Given the description of an element on the screen output the (x, y) to click on. 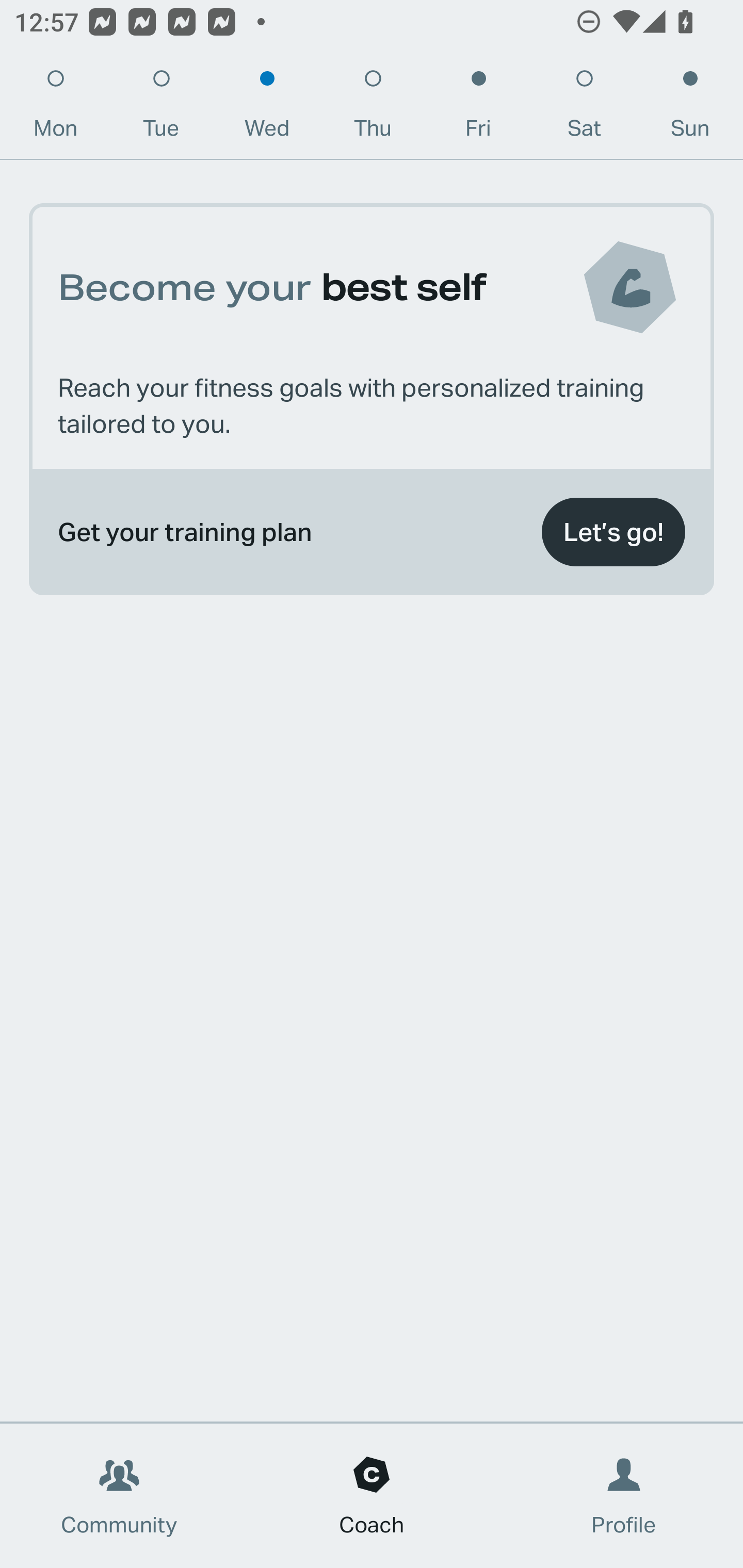
Mon (55, 108)
Tue (160, 108)
Wed (266, 108)
Thu (372, 108)
Fri (478, 108)
Sat (584, 108)
Sun (690, 108)
Let’s go! (613, 532)
Community (119, 1495)
Profile (624, 1495)
